Given the description of an element on the screen output the (x, y) to click on. 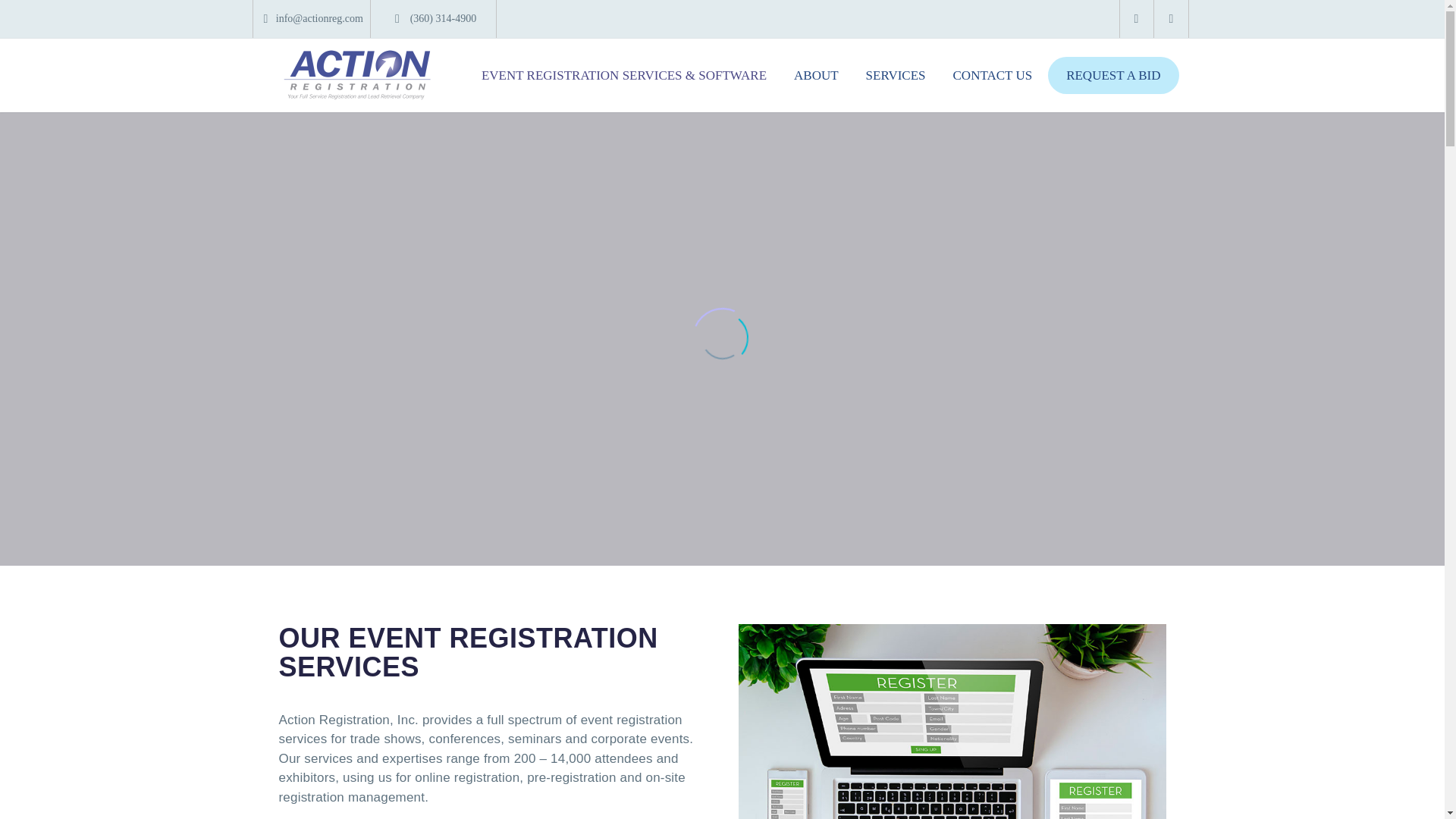
SERVICES (895, 75)
REQUEST A BID (1112, 75)
CONTACT US (992, 75)
Facebook (1136, 19)
ar-everything-registration-home-image (952, 721)
LinkedIn (1171, 19)
ABOUT (816, 75)
